Given the description of an element on the screen output the (x, y) to click on. 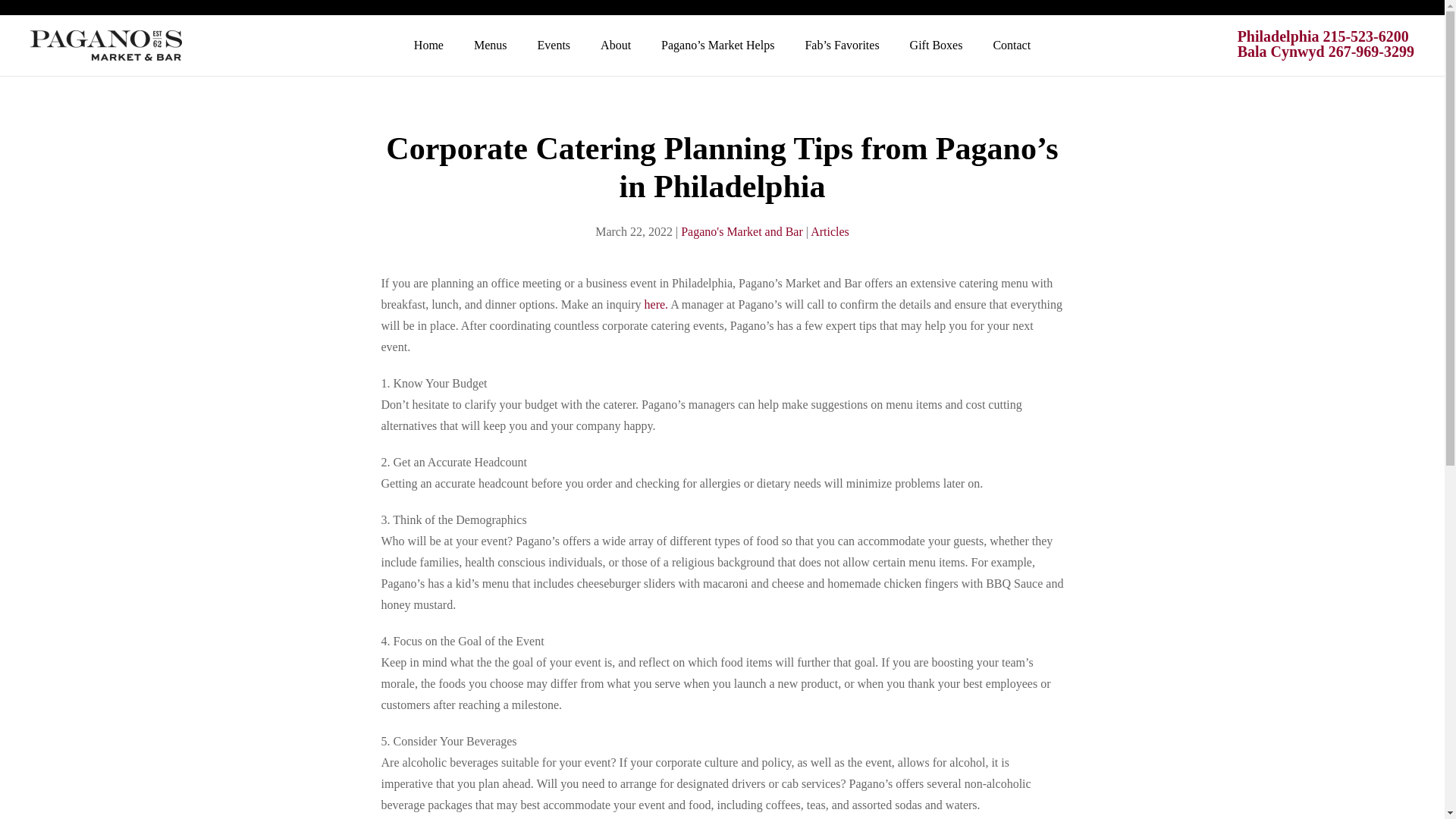
Articles (829, 231)
Menus (490, 45)
About (615, 45)
here. (656, 304)
Home (428, 45)
Events (554, 45)
215-523-6200 (1364, 36)
Gift Boxes (936, 45)
Contact (1010, 45)
267-969-3299 (1370, 51)
Pagano's Market and Bar (742, 231)
